Given the description of an element on the screen output the (x, y) to click on. 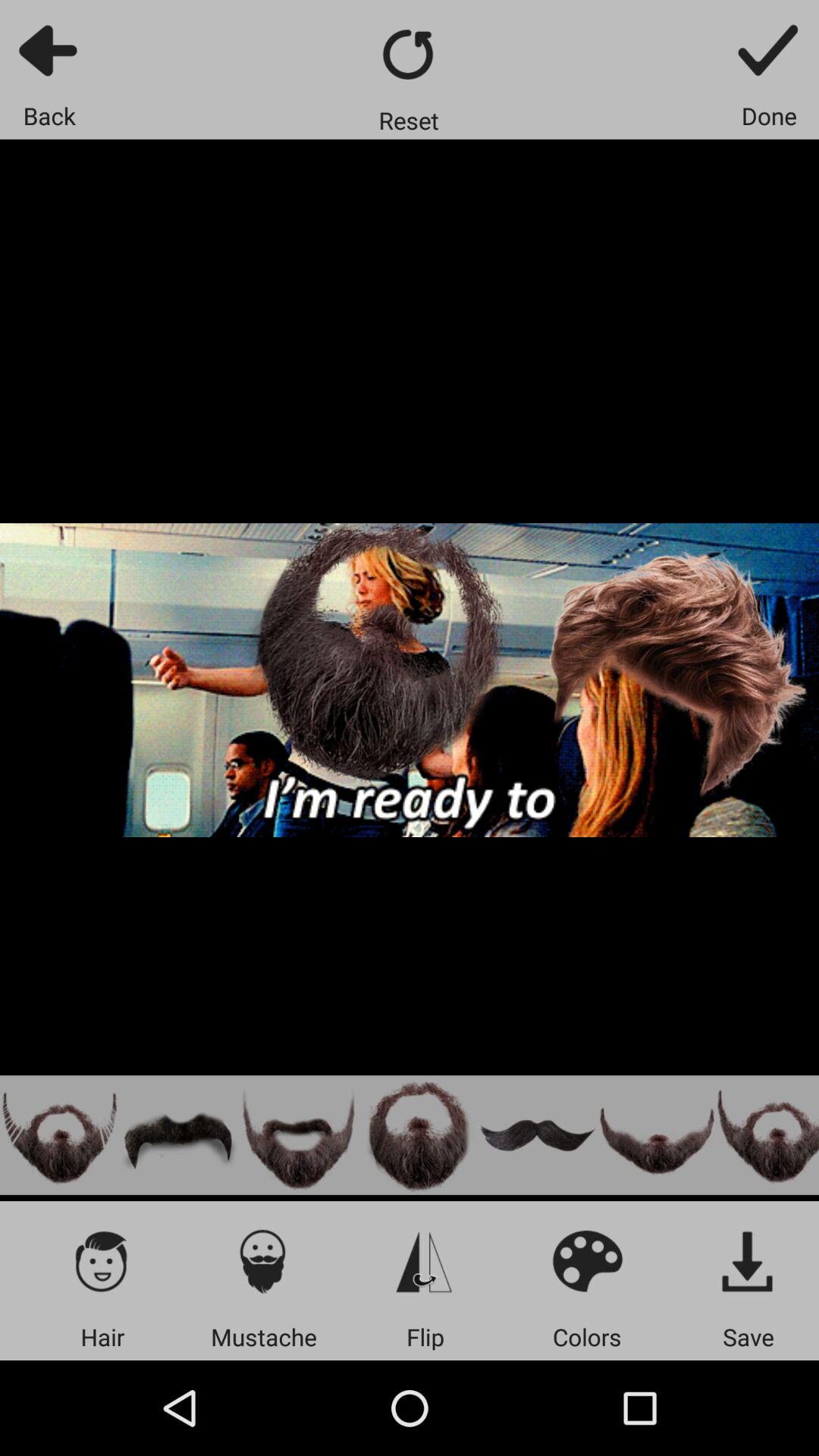
add mustache (263, 1260)
